Given the description of an element on the screen output the (x, y) to click on. 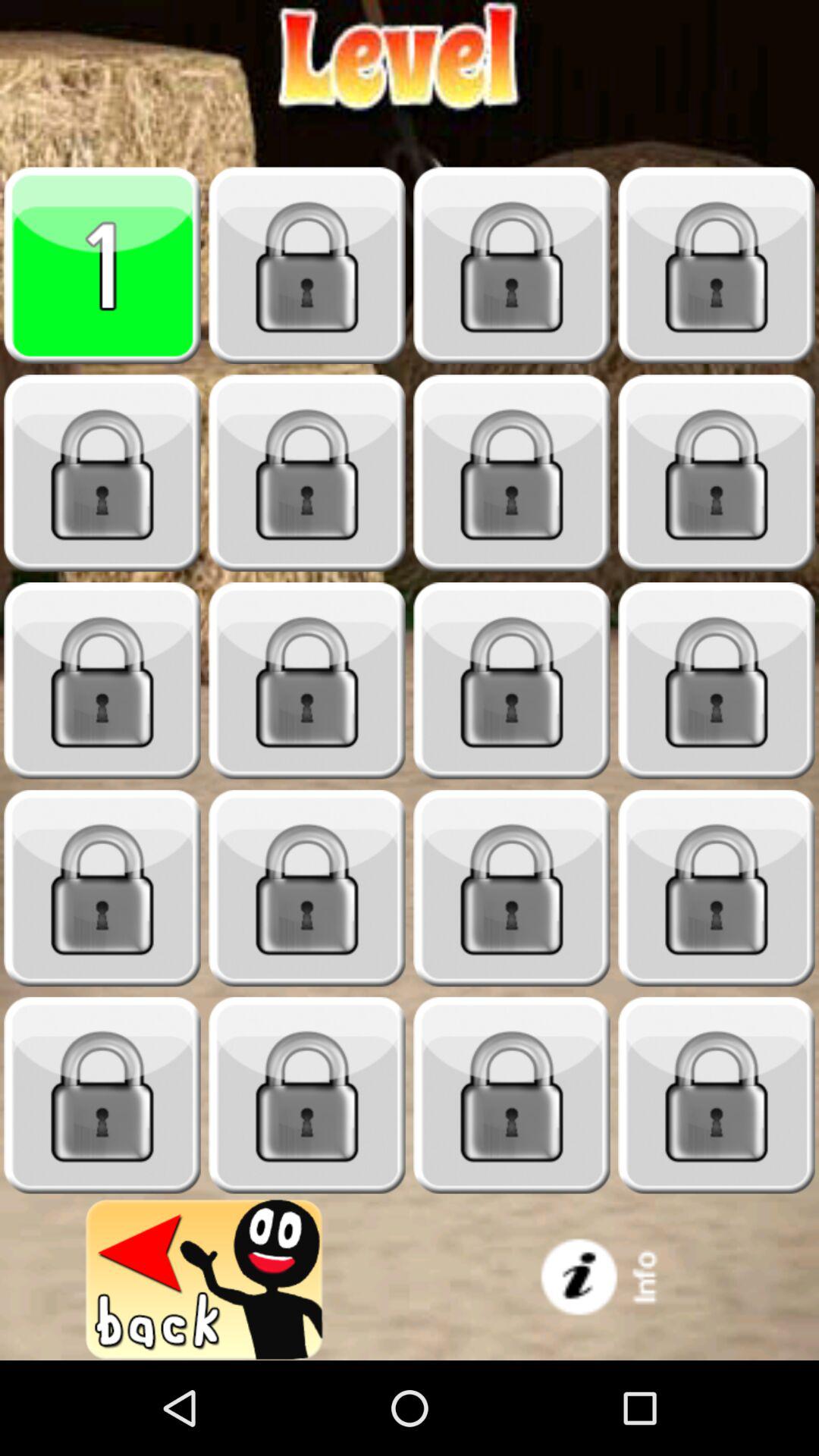
lock 11 (511, 680)
